Given the description of an element on the screen output the (x, y) to click on. 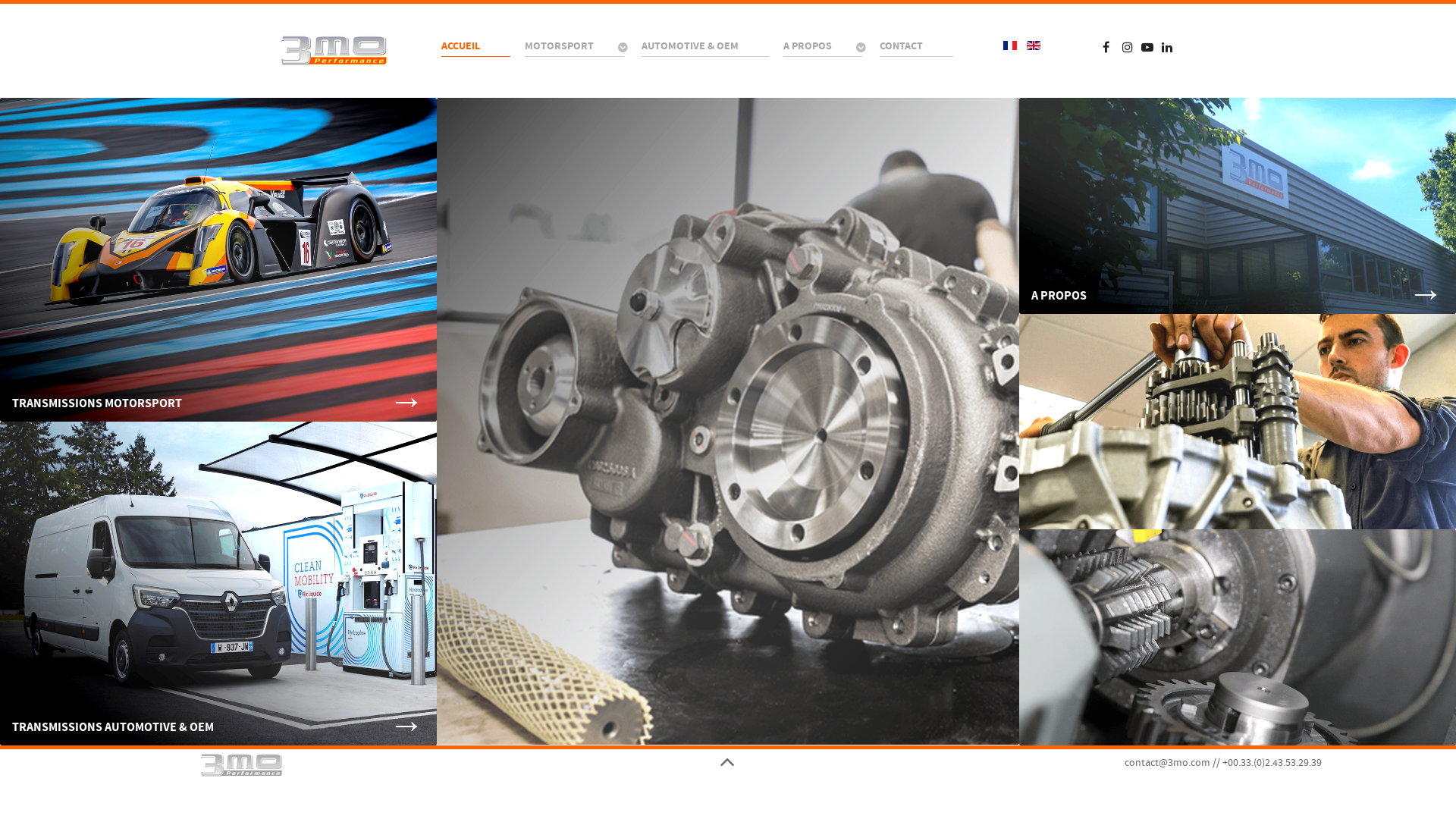
ACCUEIL Element type: text (475, 45)
CONTACT Element type: text (916, 45)
A PROPOS Element type: text (824, 46)
AUTOMOTIVE & OEM Element type: text (704, 45)
MOTORSPORT Element type: text (575, 46)
English (United Kingdom) Element type: hover (1033, 45)
